Given the description of an element on the screen output the (x, y) to click on. 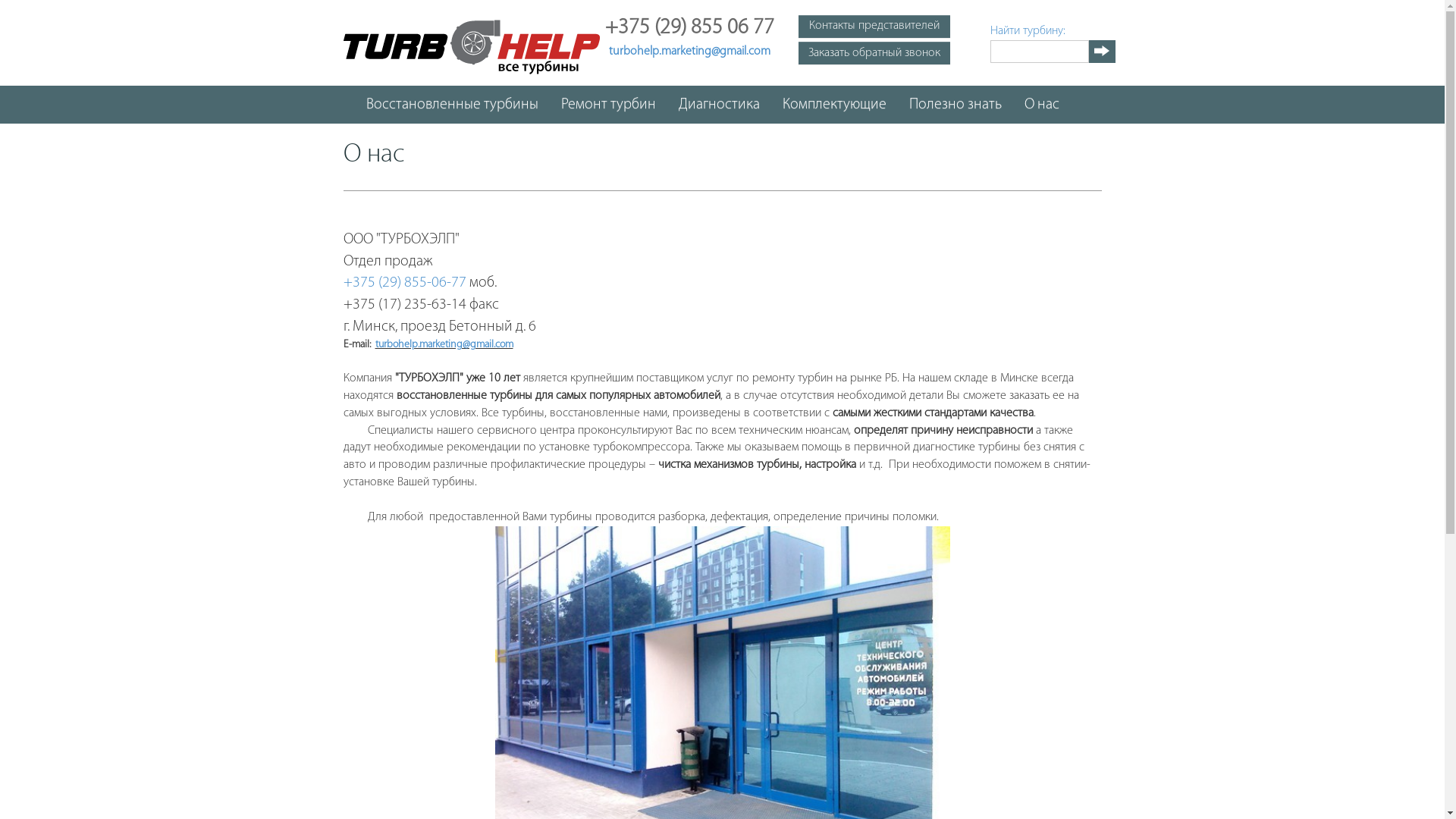
+375 (29) 855 06 77 Element type: text (689, 30)
+375 (29) 855-06-77 Element type: text (403, 282)
turbohelp.marketing@gmail.com Element type: text (443, 344)
turbohelp.marketing@gmail.com Element type: text (689, 51)
